Given the description of an element on the screen output the (x, y) to click on. 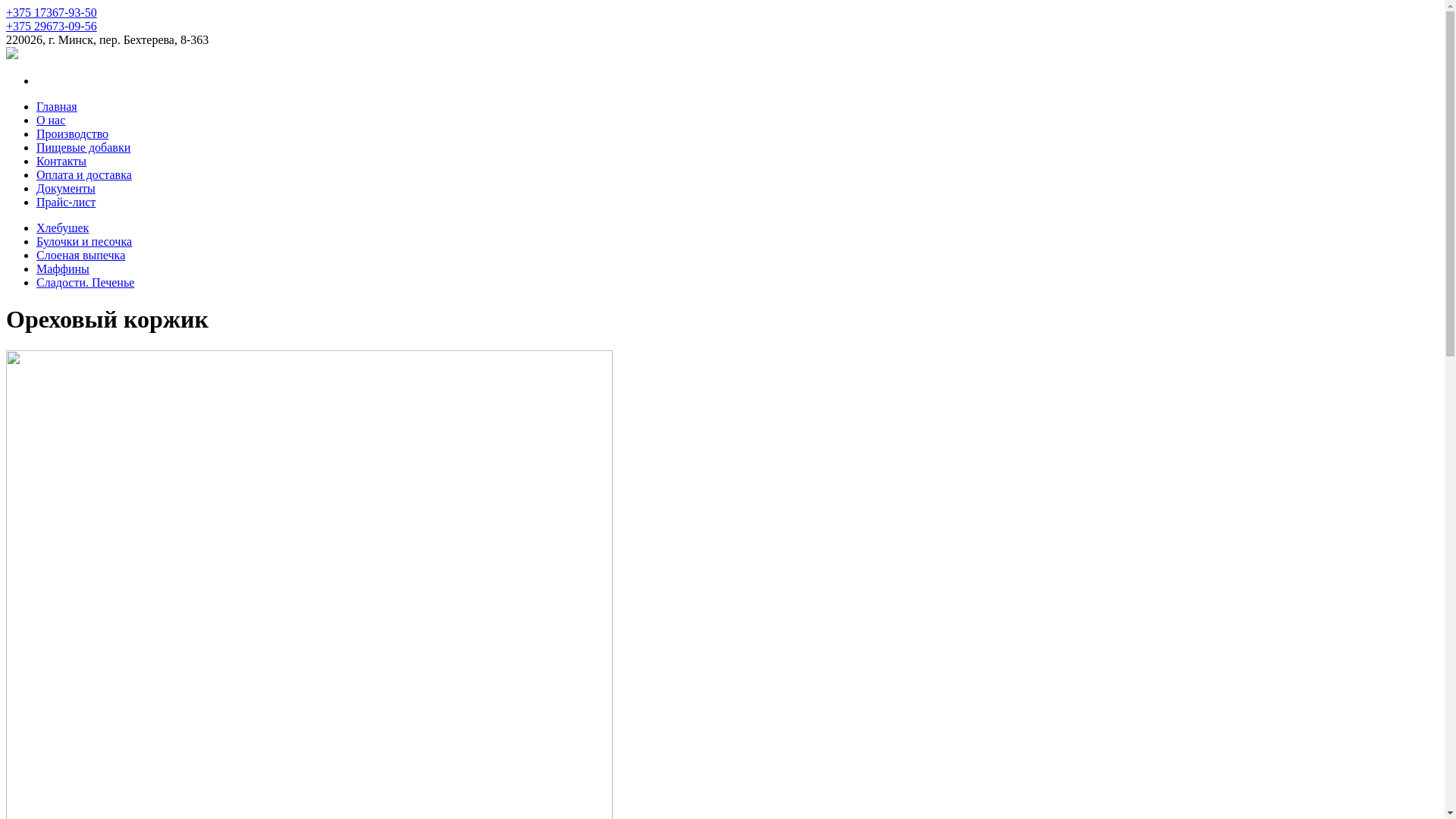
+375 29673-09-56 Element type: text (51, 25)
+375 17367-93-50 Element type: text (51, 12)
